Given the description of an element on the screen output the (x, y) to click on. 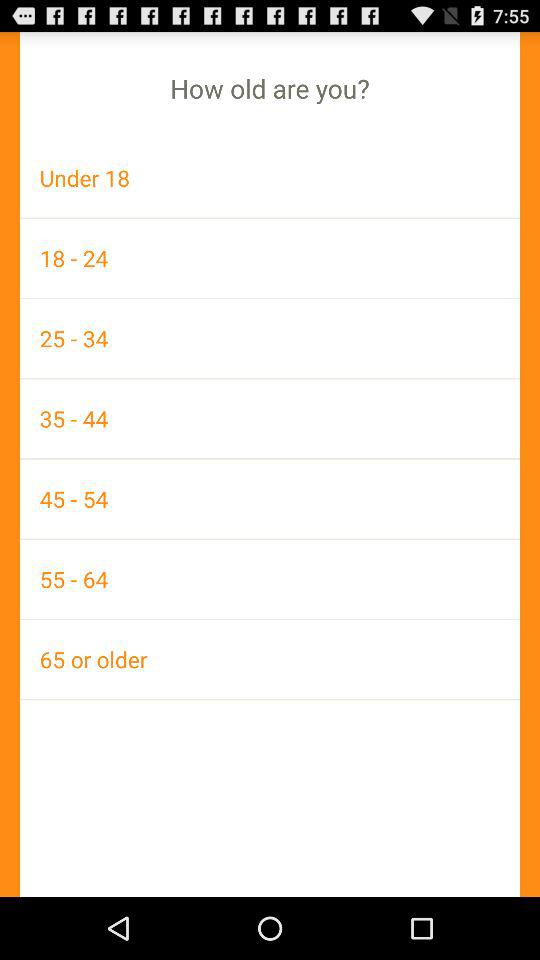
press the icon above 18 - 24 icon (269, 177)
